Given the description of an element on the screen output the (x, y) to click on. 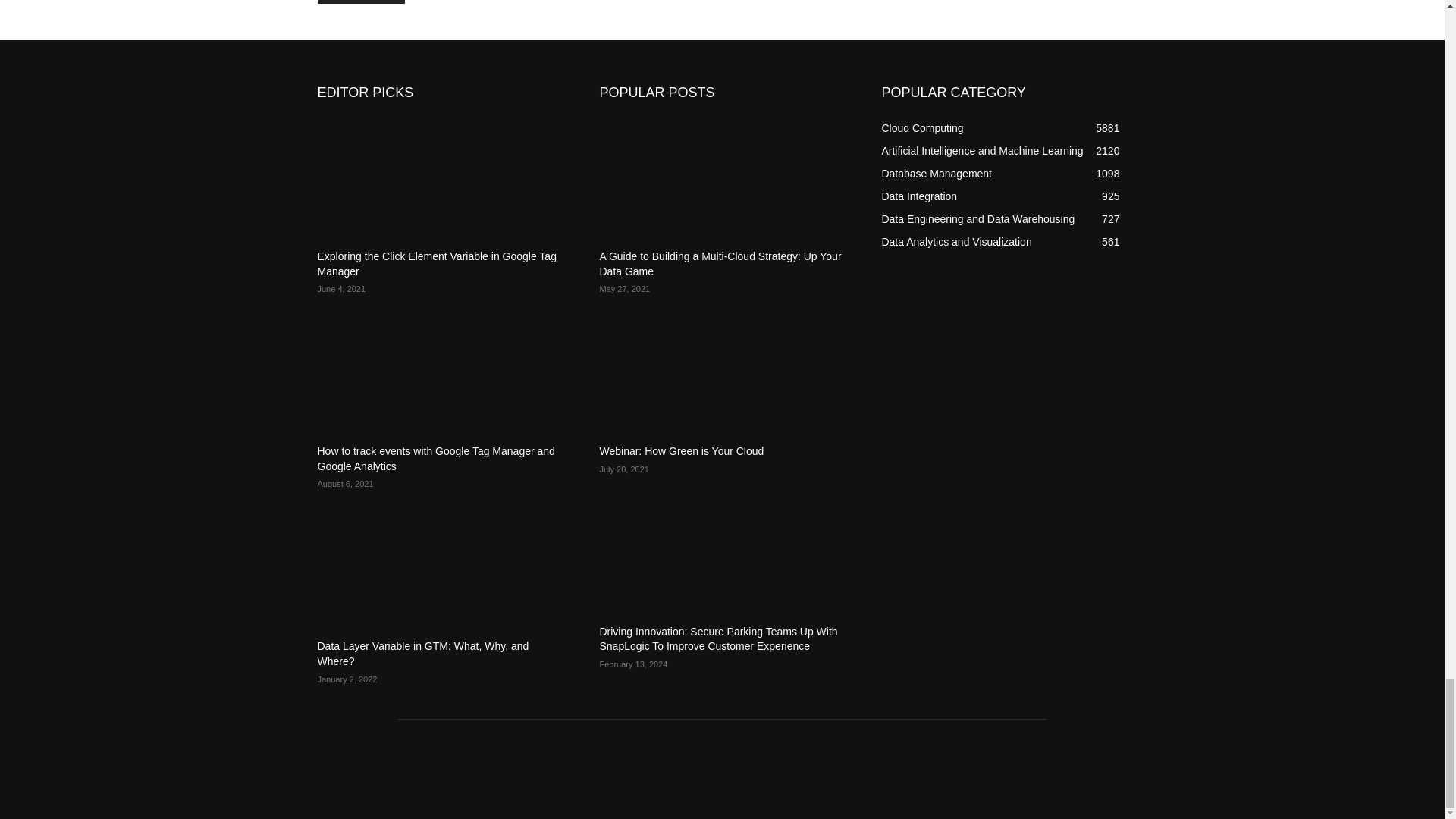
Post Comment (360, 2)
